Given the description of an element on the screen output the (x, y) to click on. 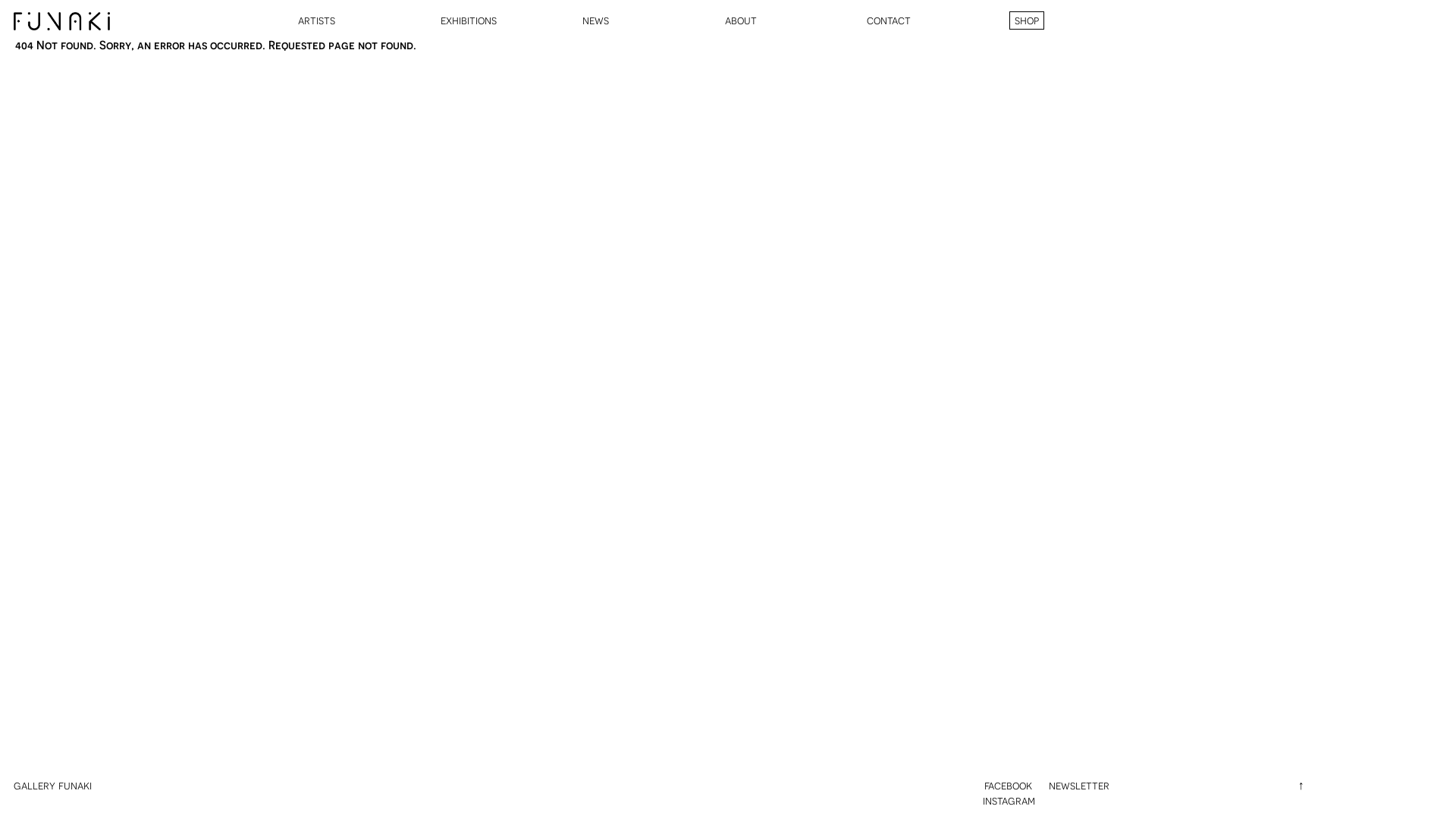
facebook Element type: text (1004, 784)
gallery funaki Element type: text (52, 784)
contact Element type: text (888, 19)
shop Element type: text (1025, 20)
instagram Element type: text (1005, 799)
about Element type: text (740, 19)
news Element type: text (595, 19)
artists Element type: text (316, 19)
exhibitions Element type: text (467, 19)
